Given the description of an element on the screen output the (x, y) to click on. 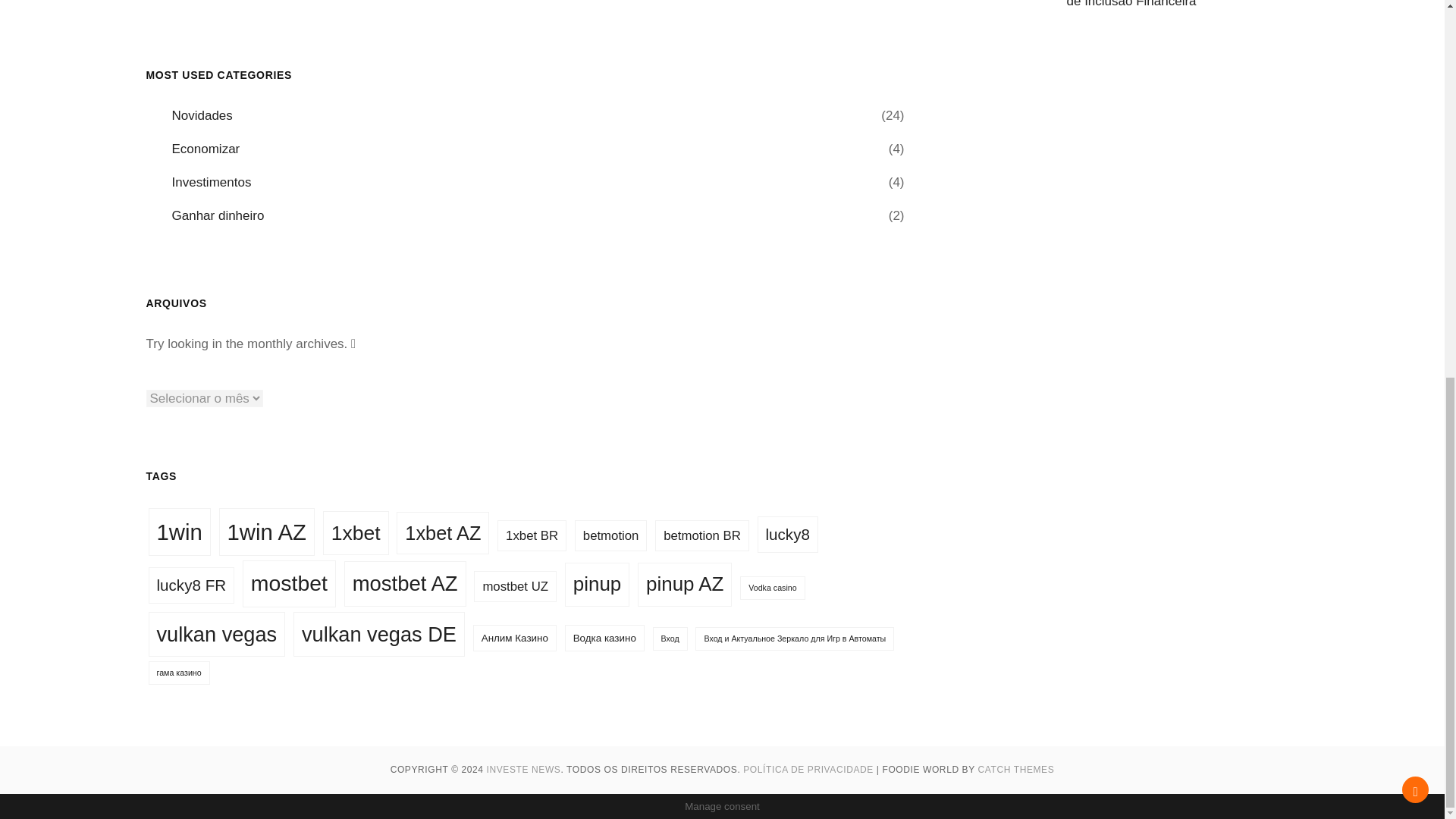
lucky8 (786, 534)
pinup AZ (684, 584)
betmotion (611, 535)
1xbet BR (531, 535)
Ganhar dinheiro (217, 215)
betmotion BR (702, 535)
vulkan vegas (216, 634)
lucky8 FR (191, 585)
1xbet AZ (442, 532)
1xbet (355, 533)
